Given the description of an element on the screen output the (x, y) to click on. 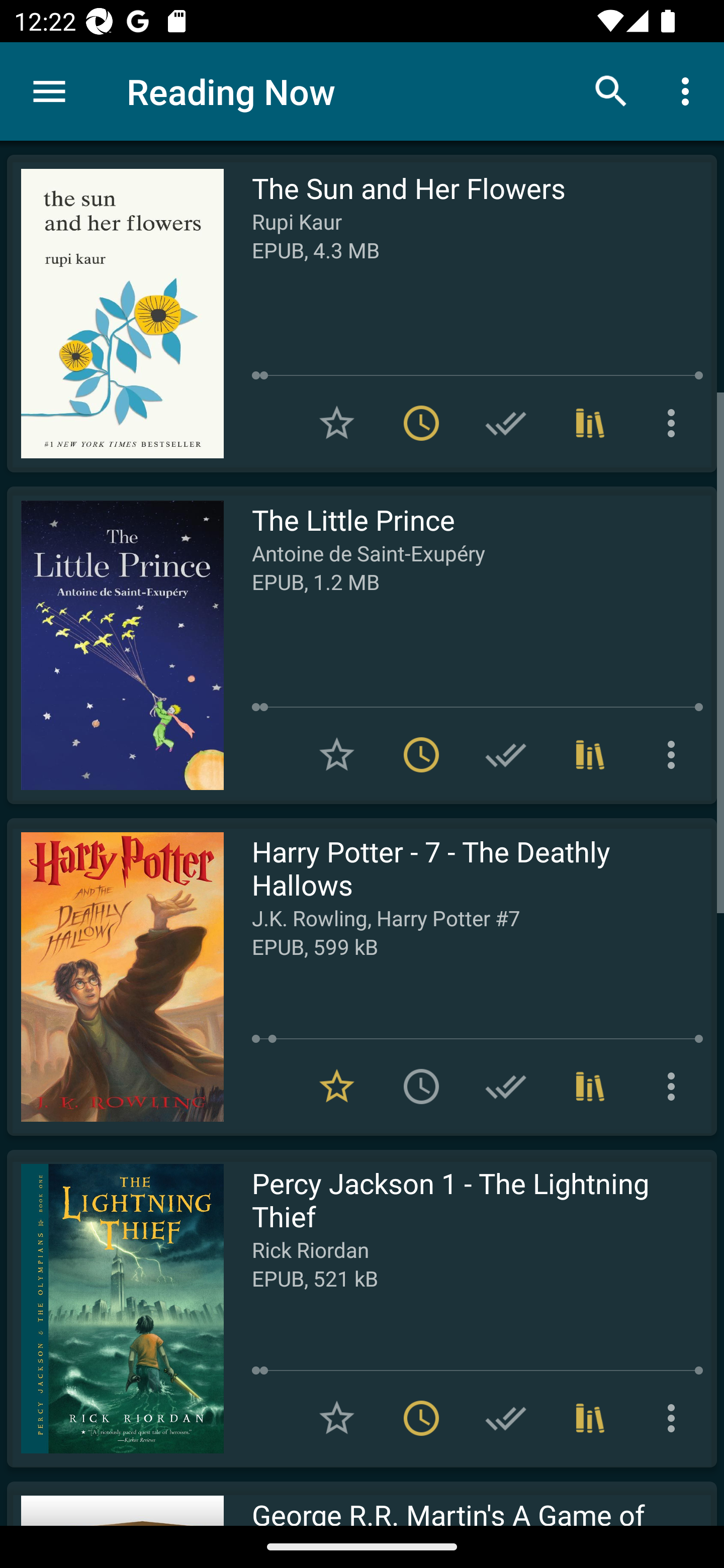
Menu (49, 91)
Search books & documents (611, 90)
More options (688, 90)
Read The Sun and Her Flowers (115, 313)
Add to Favorites (336, 423)
Remove from To read (421, 423)
Add to Have read (505, 423)
Collections (1) (590, 423)
More options (674, 423)
Read The Little Prince (115, 645)
Add to Favorites (336, 753)
Remove from To read (421, 753)
Add to Have read (505, 753)
Collections (1) (590, 753)
More options (674, 753)
Read Harry Potter - 7 - The Deathly Hallows (115, 976)
Remove from Favorites (336, 1086)
Add to To read (421, 1086)
Add to Have read (505, 1086)
Collections (2) (590, 1086)
More options (674, 1086)
Read Percy Jackson 1 - The Lightning Thief (115, 1308)
Add to Favorites (336, 1417)
Remove from To read (421, 1417)
Add to Have read (505, 1417)
Collections (1) (590, 1417)
More options (674, 1417)
